Given the description of an element on the screen output the (x, y) to click on. 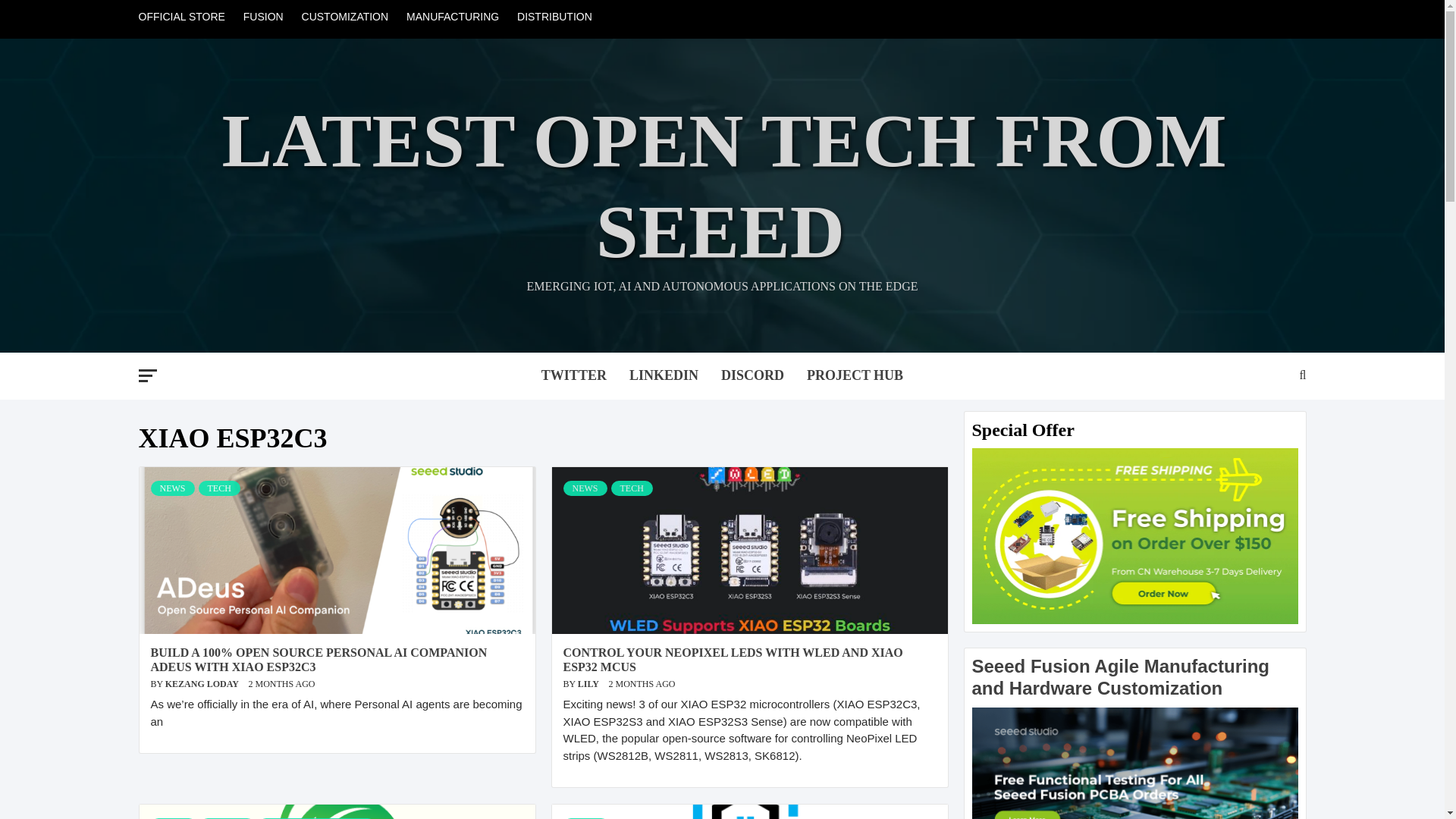
DISCORD (752, 375)
CUSTOMIZATION (345, 17)
TWITTER (573, 375)
OFFICIAL STORE (184, 17)
LINKEDIN (663, 375)
FUSION (263, 17)
MANUFACTURING (452, 17)
DISTRIBUTION (554, 17)
PROJECT HUB (854, 375)
